Given the description of an element on the screen output the (x, y) to click on. 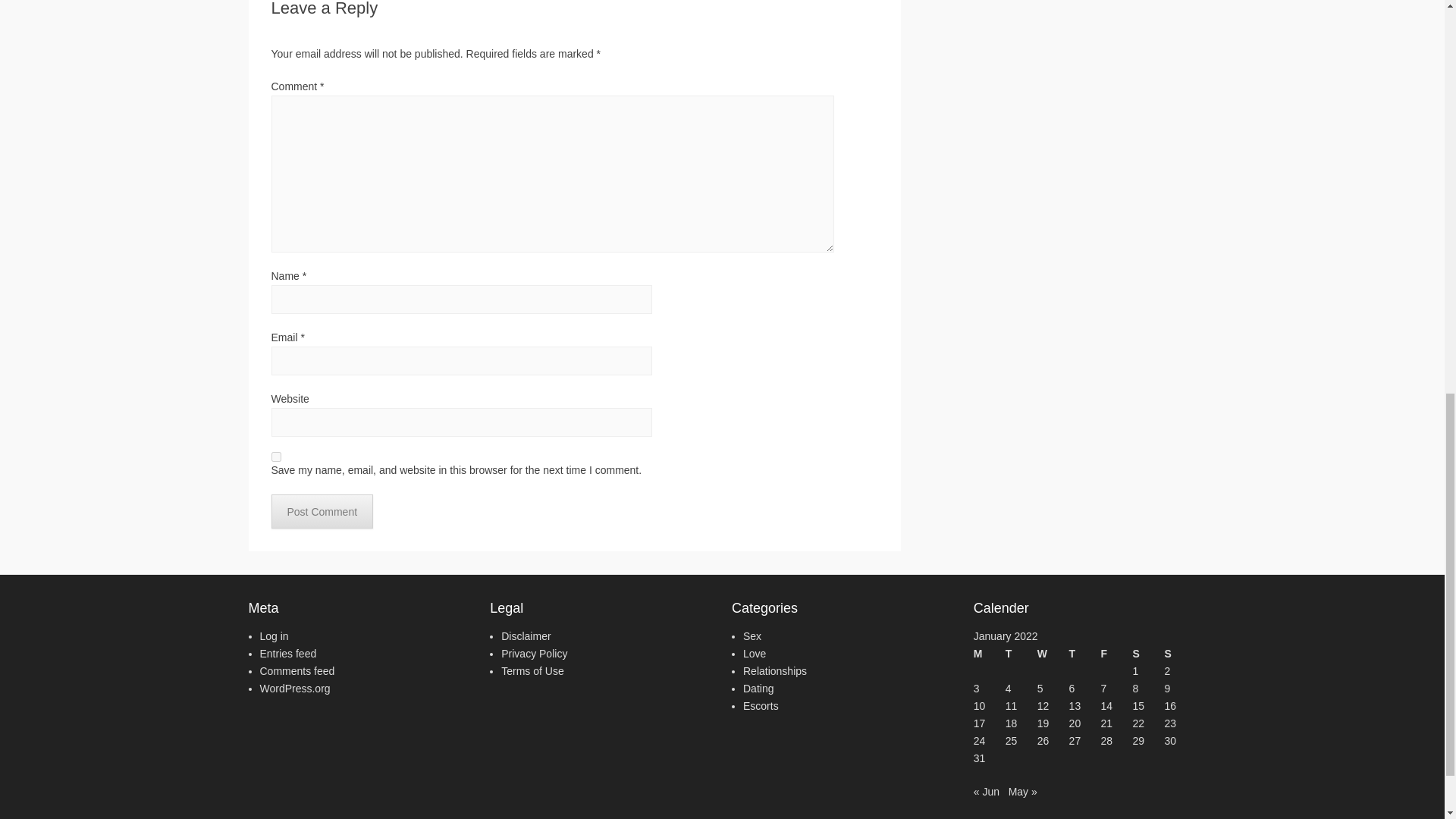
Post Comment (322, 511)
Thursday (1084, 653)
Log in (273, 635)
yes (275, 456)
Post Comment (322, 511)
Tuesday (1021, 653)
Friday (1116, 653)
Saturday (1148, 653)
Entries feed (287, 653)
WordPress.org (294, 688)
Wednesday (1052, 653)
Comments feed (296, 671)
Disclaimer (525, 635)
Sunday (1179, 653)
Monday (990, 653)
